Given the description of an element on the screen output the (x, y) to click on. 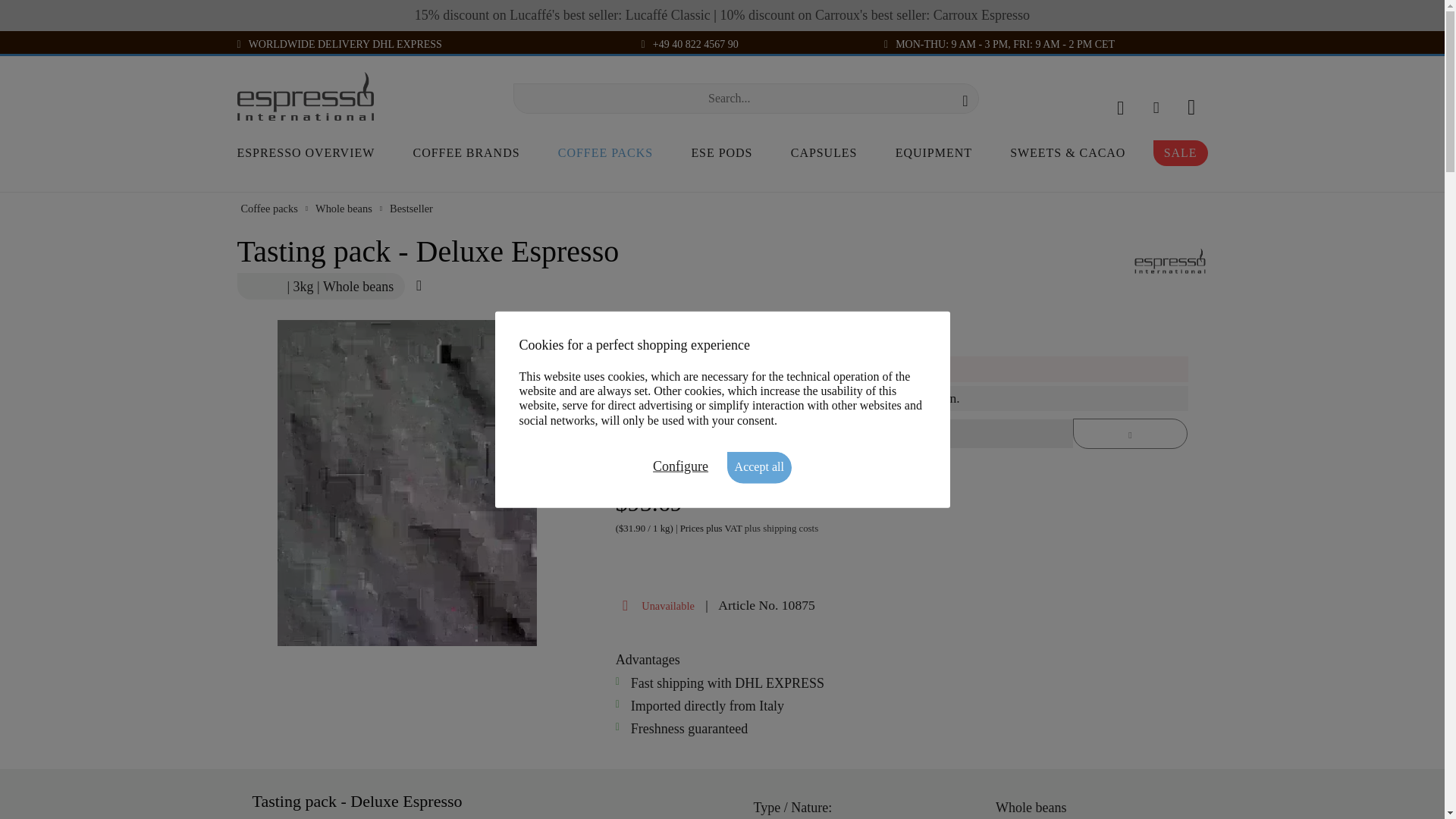
CAPSULES (823, 153)
Capsules (823, 153)
Coffee packs  (605, 153)
Wish list (1156, 105)
ESE Pods (720, 153)
COFFEE PACKS (605, 156)
EQUIPMENT (933, 153)
SALE (1180, 153)
Equipment (933, 153)
ESE PODS (720, 156)
COFFEE BRANDS (467, 153)
Espresso International - Switch to homepage (303, 96)
SALE (1180, 153)
Espresso overview (310, 153)
ESE PODS (720, 153)
